Given the description of an element on the screen output the (x, y) to click on. 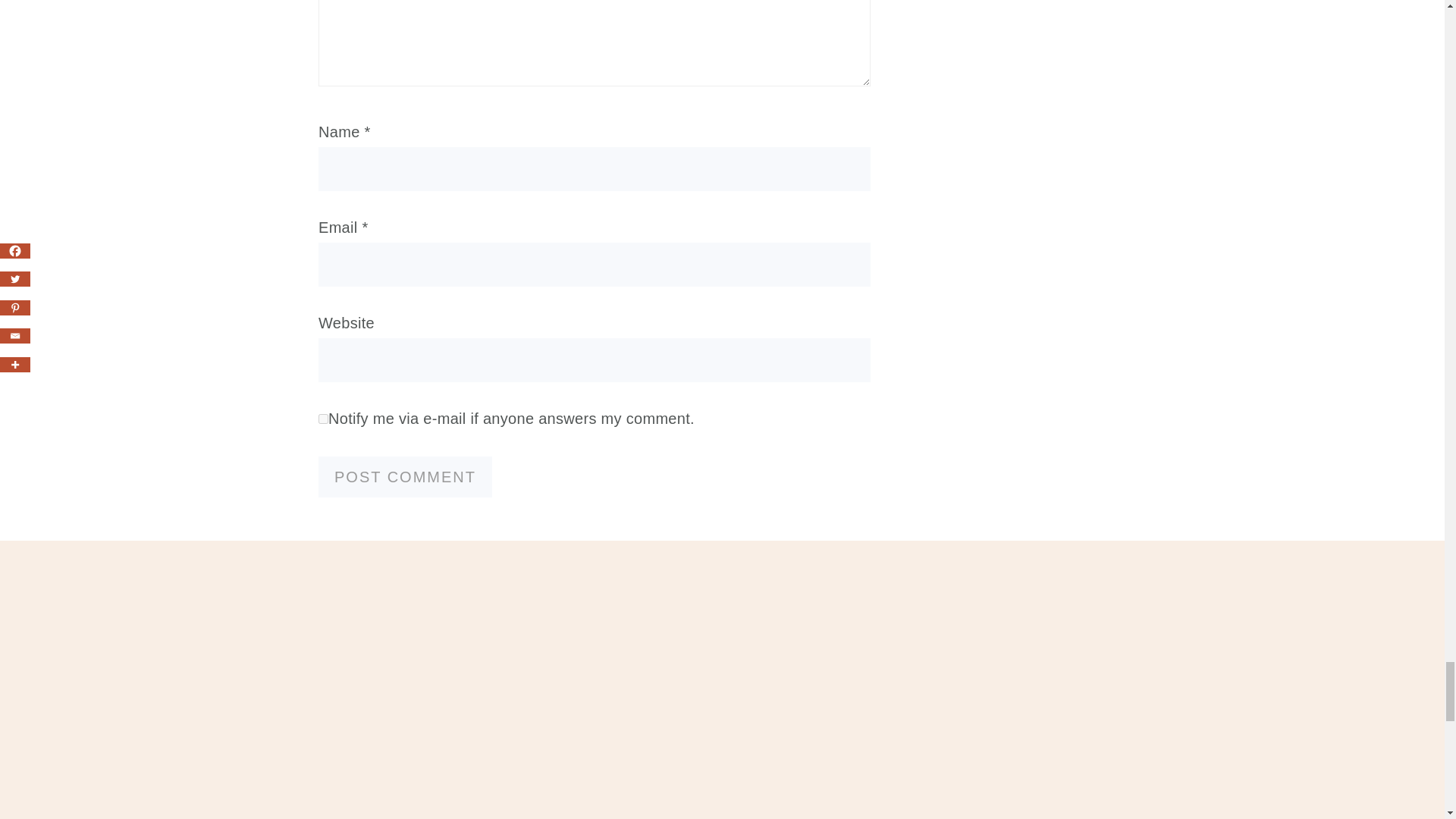
on (323, 419)
Post Comment (405, 476)
